Given the description of an element on the screen output the (x, y) to click on. 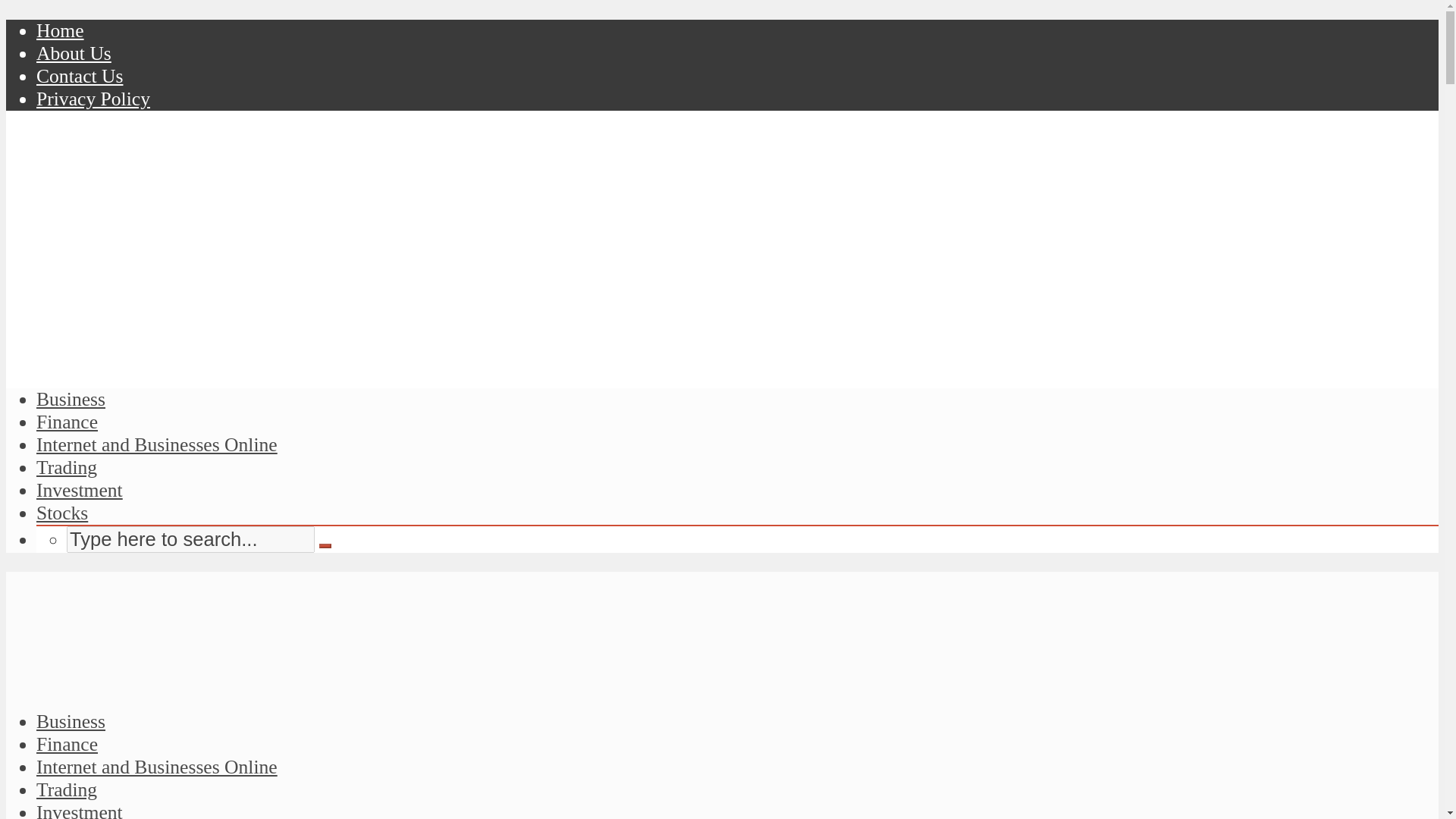
Business (70, 721)
Internet and Businesses Online (157, 444)
Home (60, 30)
Internet and Businesses Online (157, 766)
Trading (66, 467)
Type here to search... (190, 539)
Finance (66, 422)
Stocks (61, 513)
Type here to search... (190, 539)
Business (70, 399)
